Given the description of an element on the screen output the (x, y) to click on. 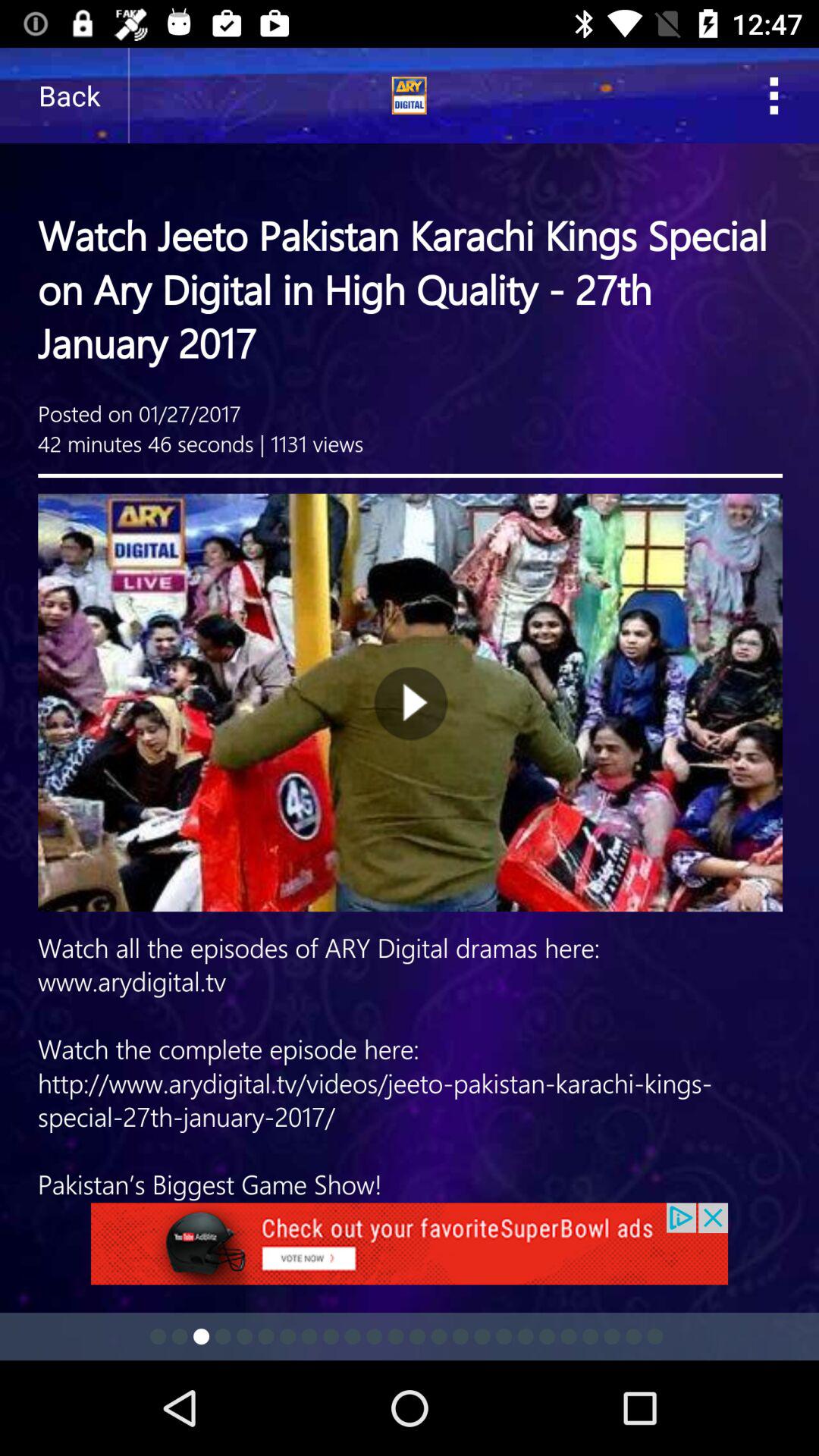
advertisement page (409, 624)
